Given the description of an element on the screen output the (x, y) to click on. 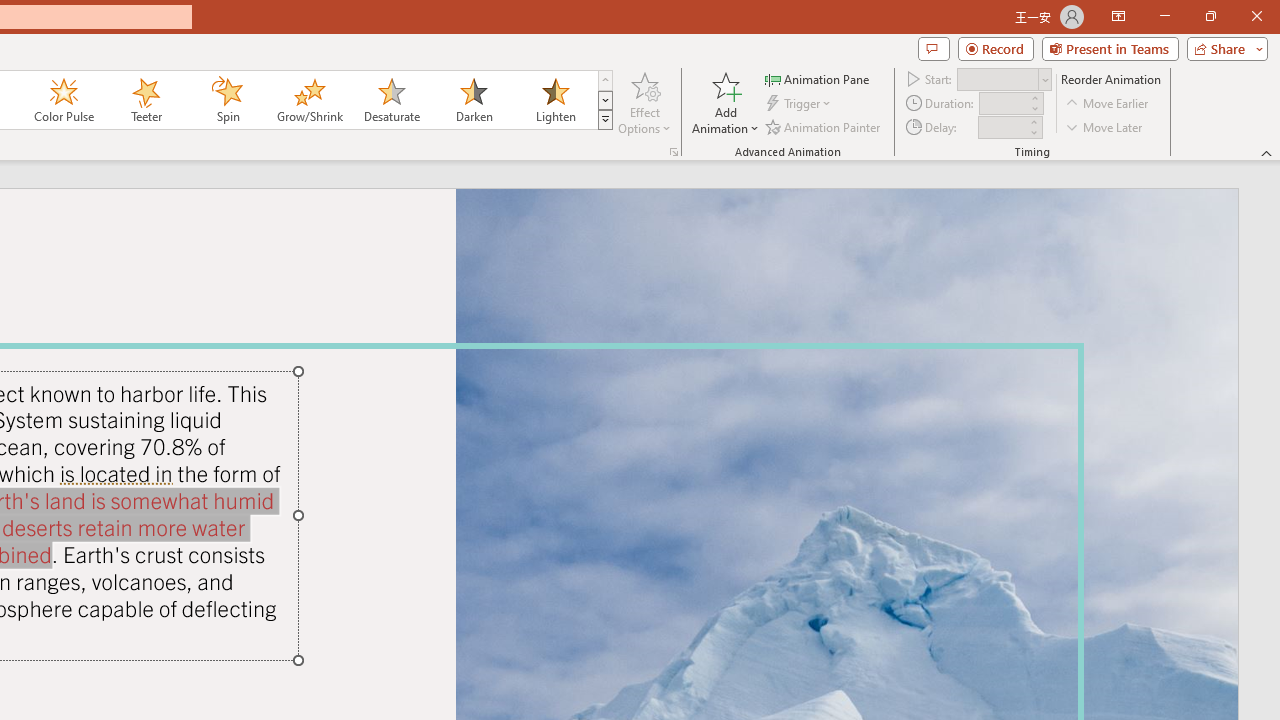
Share (1223, 48)
Animation Styles (605, 120)
Color Pulse (63, 100)
Start (1004, 78)
